Given the description of an element on the screen output the (x, y) to click on. 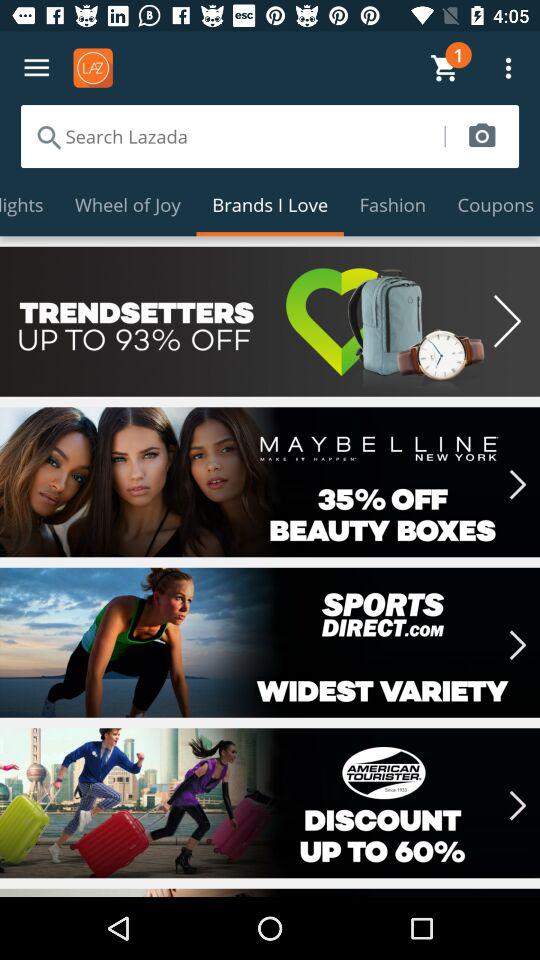
explore maybelline new york products (270, 482)
